Given the description of an element on the screen output the (x, y) to click on. 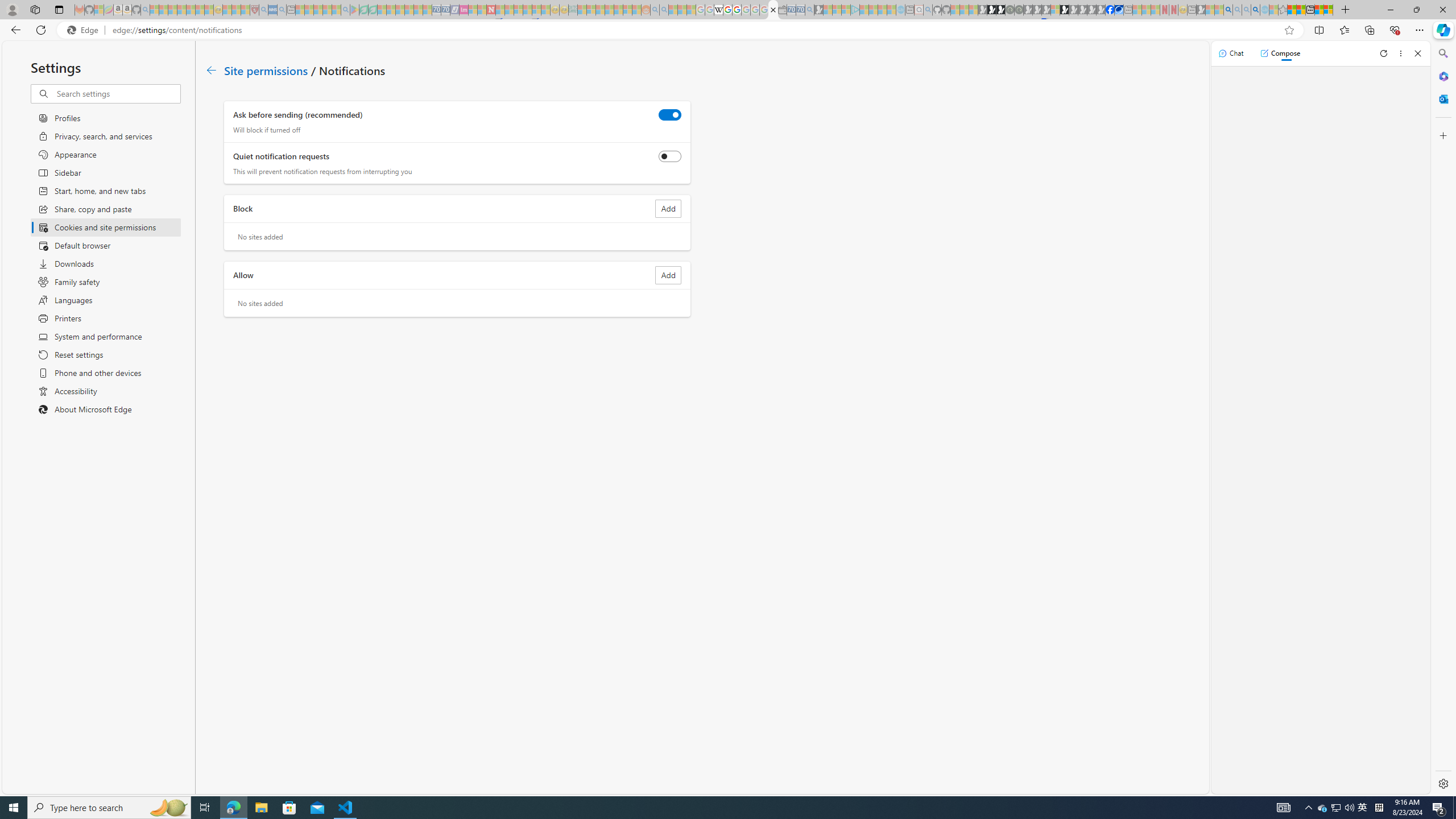
Expert Portfolios - Sleeping (608, 9)
DITOGAMES AG Imprint - Sleeping (572, 9)
